Given the description of an element on the screen output the (x, y) to click on. 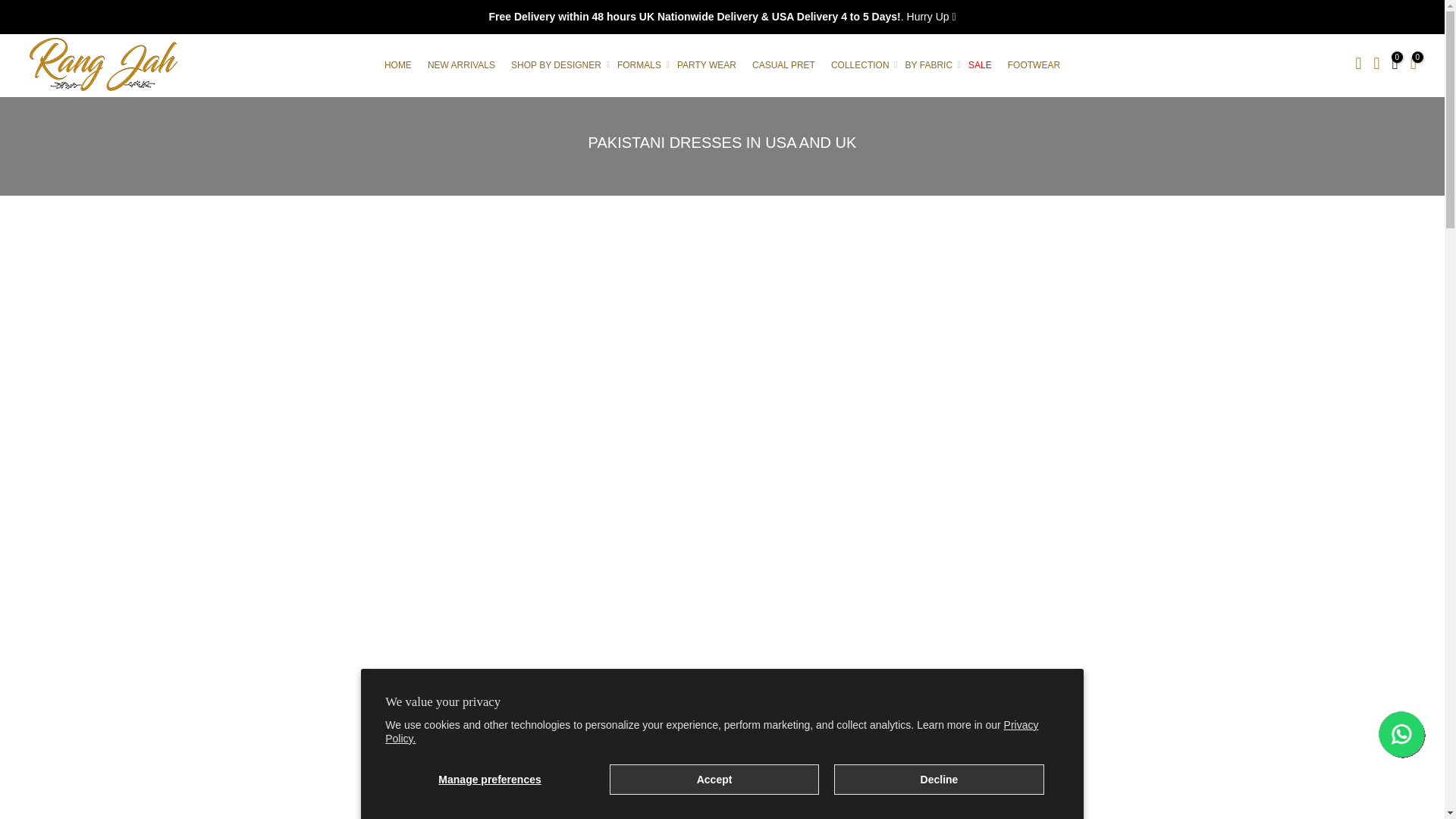
HOME (397, 64)
NEW ARRIVALS (460, 64)
Privacy Policy. (711, 731)
Decline (938, 779)
Manage preferences (489, 779)
SHOP BY DESIGNER (556, 64)
Accept (714, 779)
